Given the description of an element on the screen output the (x, y) to click on. 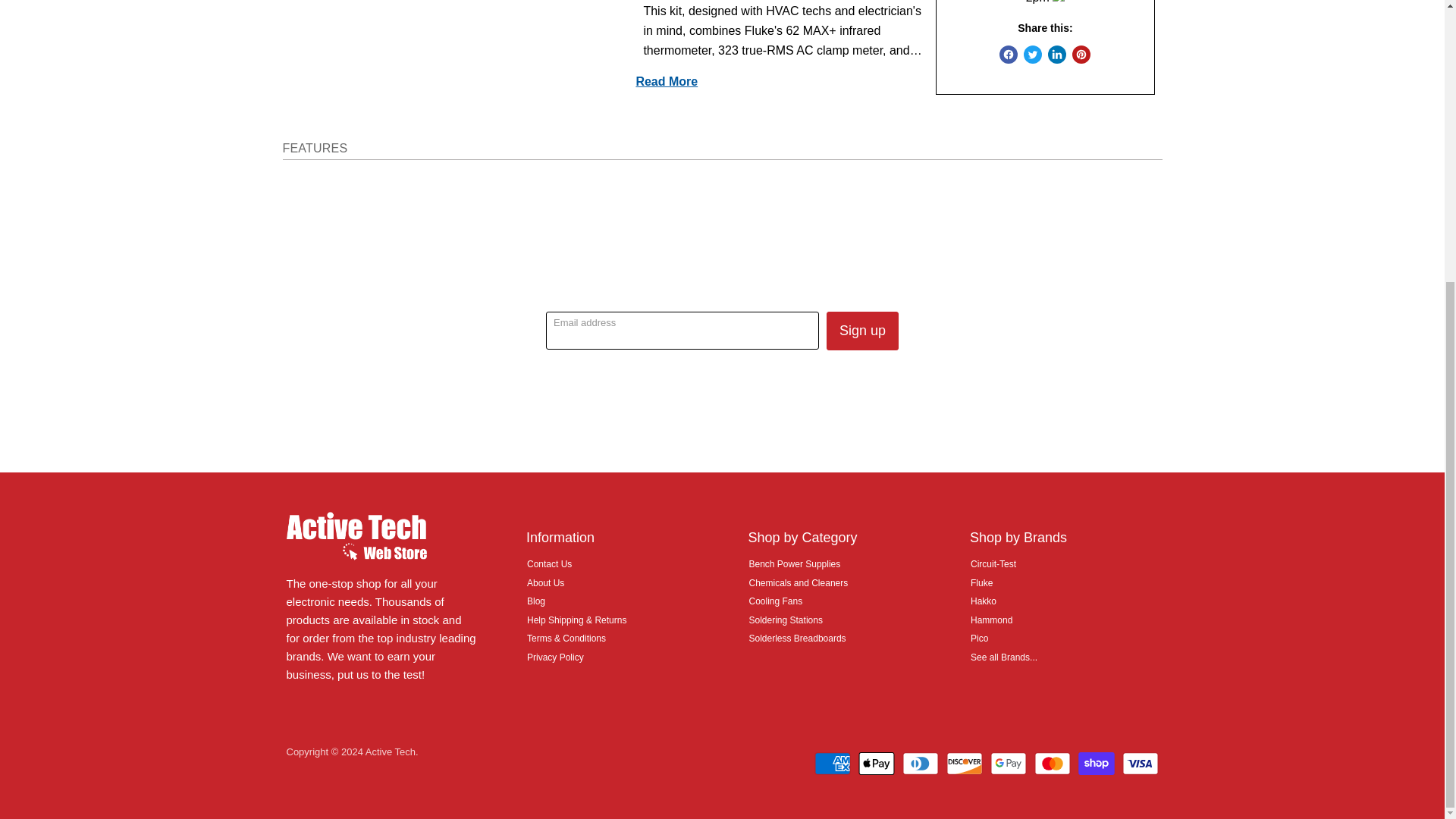
Shop Pay (1096, 763)
Diners Club (920, 763)
Visa (1140, 763)
Tweet on Twitter (1032, 54)
Mastercard (1051, 763)
Contact Us (549, 563)
American Express (831, 763)
Share on LinkedIn (1056, 54)
Discover (964, 763)
Blog (535, 601)
